Given the description of an element on the screen output the (x, y) to click on. 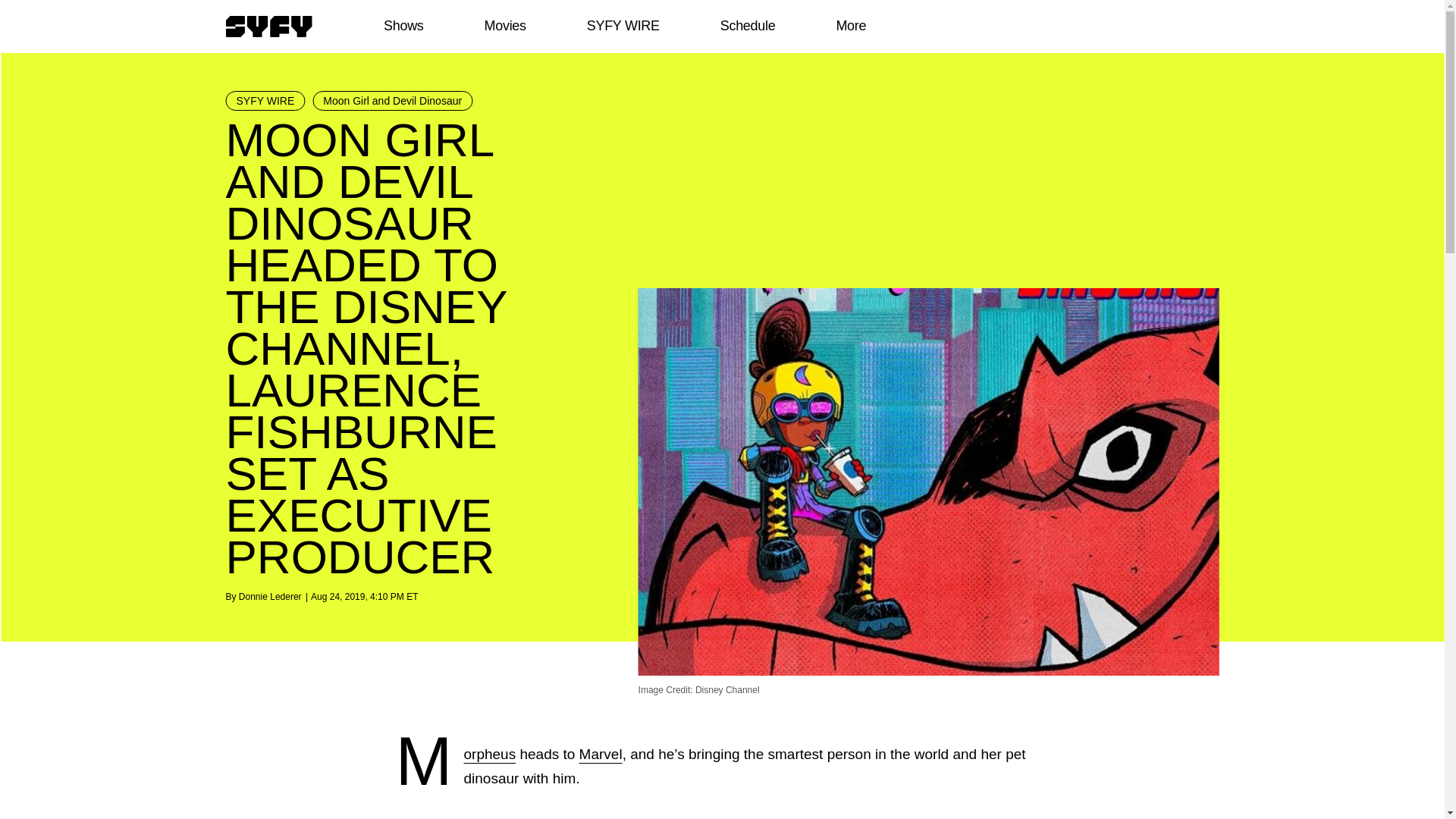
Moon Girl and Devil Dinosaur (392, 100)
Morpheus (489, 754)
Donnie Lederer (269, 596)
SYFY WIRE (265, 100)
Marvel (601, 754)
Movies (504, 26)
SYFY WIRE (622, 26)
Schedule (746, 26)
Shows (403, 26)
More (850, 26)
